Given the description of an element on the screen output the (x, y) to click on. 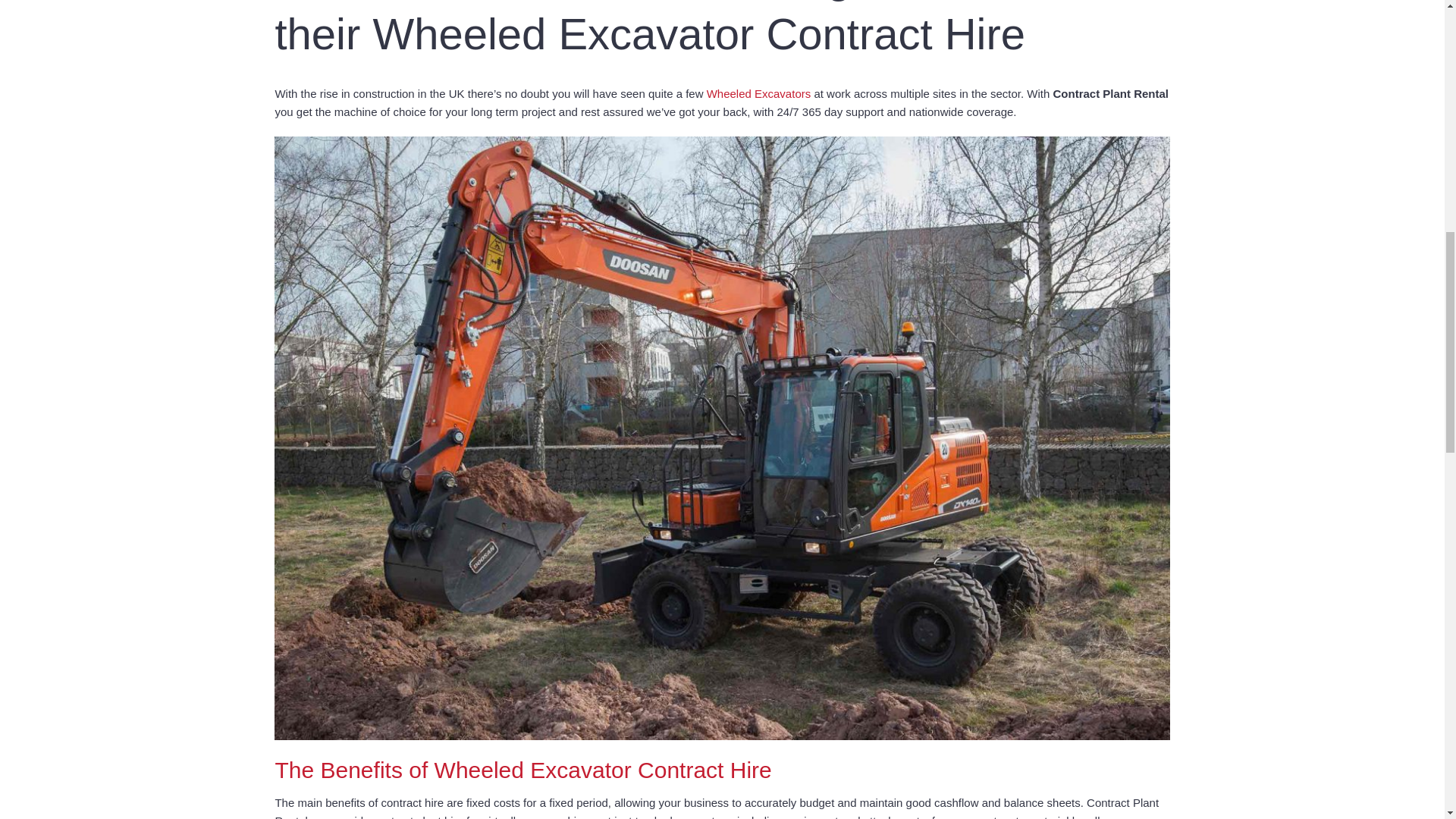
Wheeled Excavators (758, 92)
